Given the description of an element on the screen output the (x, y) to click on. 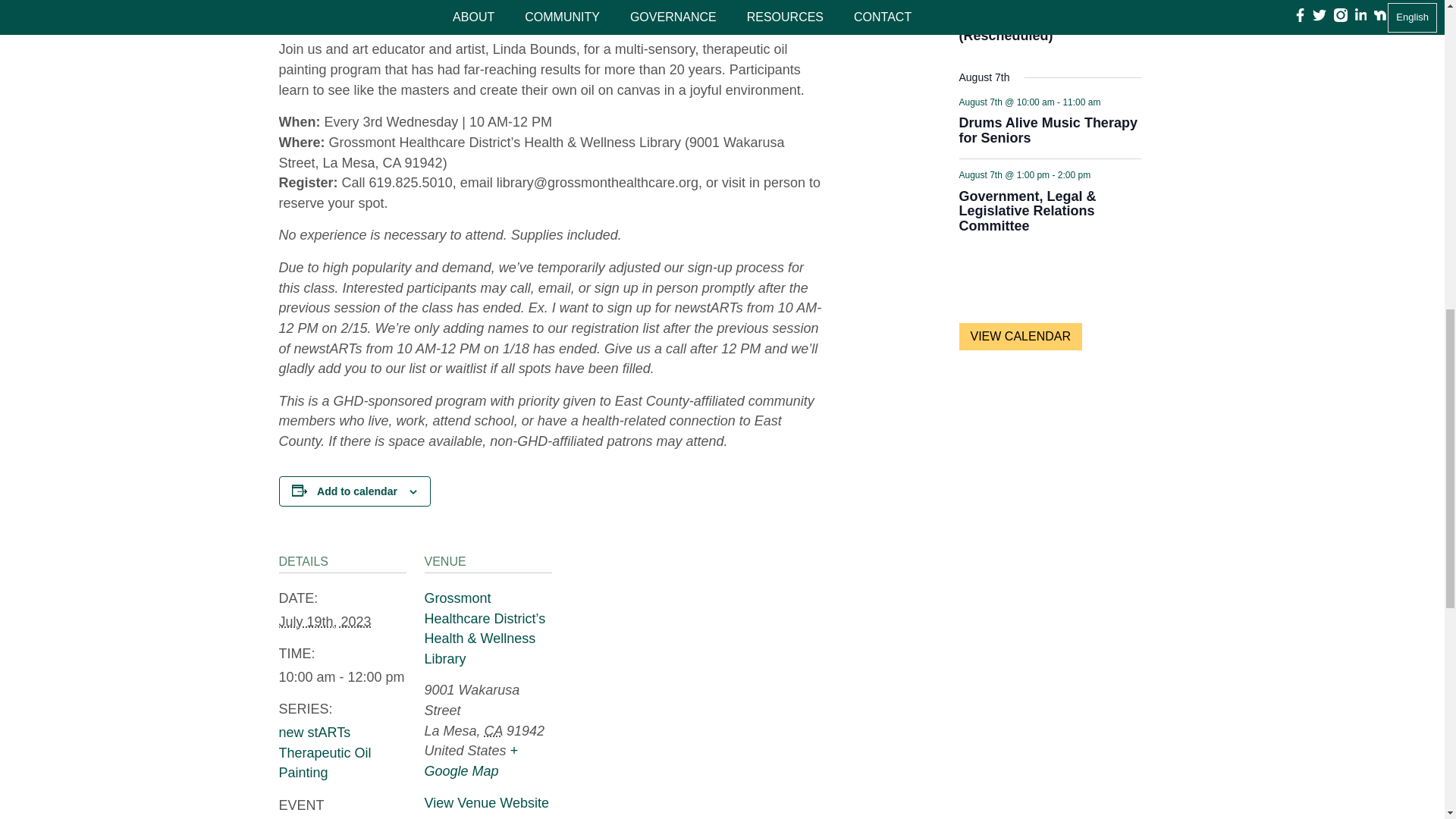
Event Series (1098, 173)
Click to view a Google Map (471, 760)
new stARTs Therapeutic Oil Painting (325, 752)
2023-07-19 (342, 677)
California (493, 730)
2023-07-19 (325, 621)
Event Series (1108, 99)
